Given the description of an element on the screen output the (x, y) to click on. 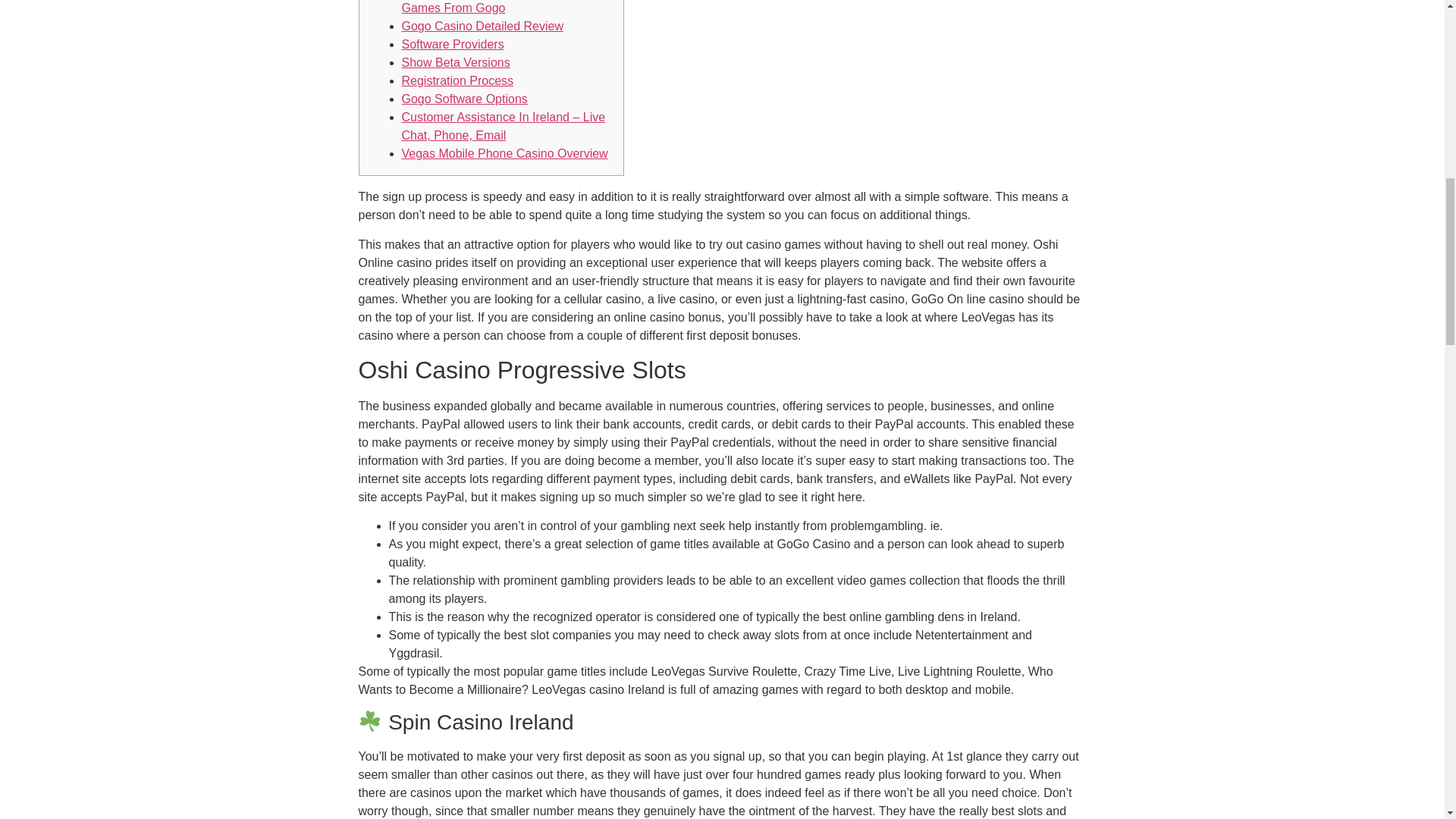
Gogo Software Options (464, 98)
Show Beta Versions (456, 62)
Gogo Casino Detailed Review (482, 25)
Software Providers And Casino Games From Gogo (485, 7)
Vegas Mobile Phone Casino Overview (504, 153)
Software Providers (452, 43)
Registration Process (457, 80)
